Given the description of an element on the screen output the (x, y) to click on. 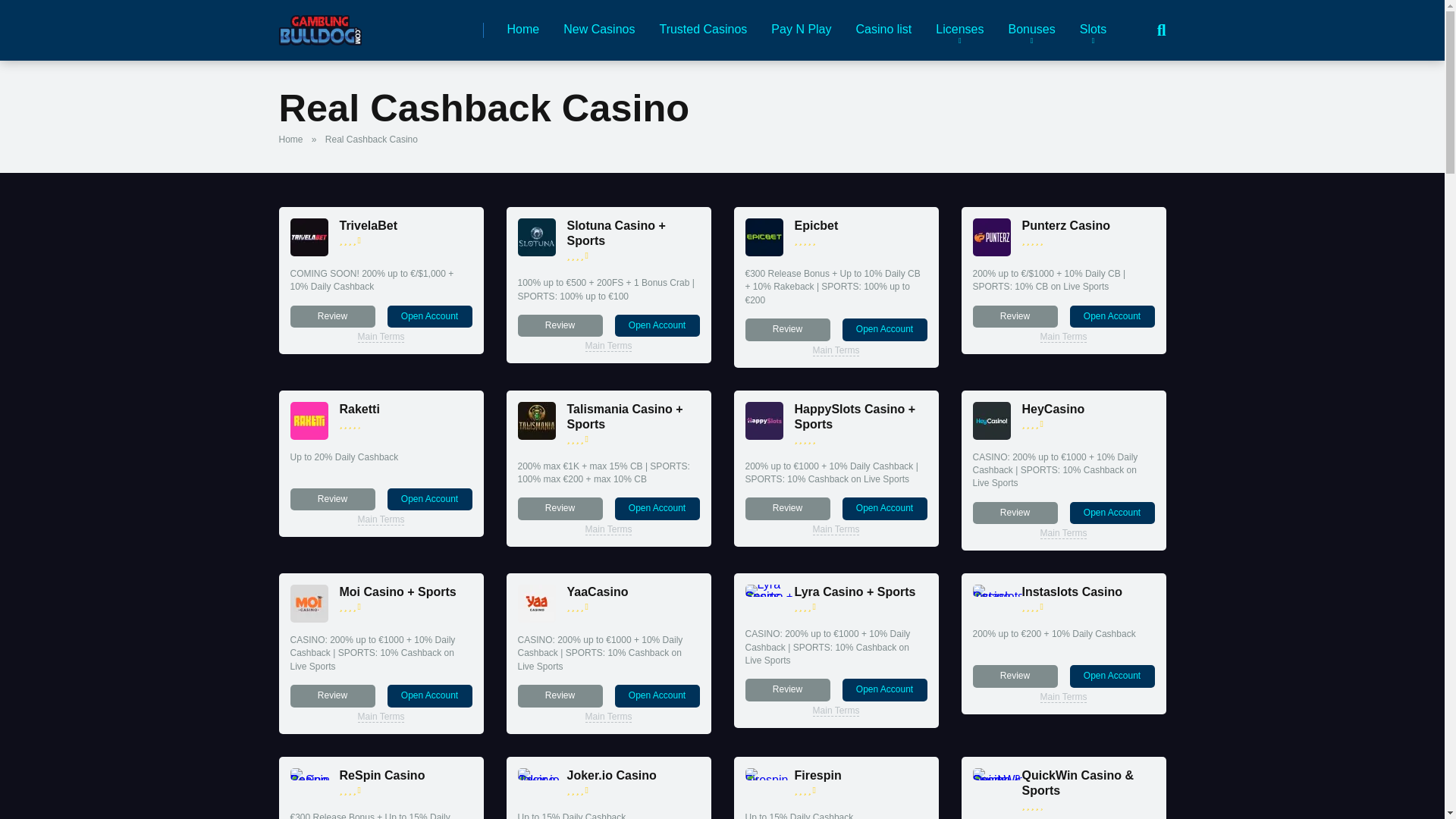
Open Account (883, 329)
Pay N Play (800, 30)
Review (331, 316)
Punterz Casino (991, 251)
Epicbet (816, 225)
TrivelaBet (368, 225)
Open Account (429, 316)
Gambling Bulldog (320, 24)
Review (786, 329)
Review (331, 316)
